Given the description of an element on the screen output the (x, y) to click on. 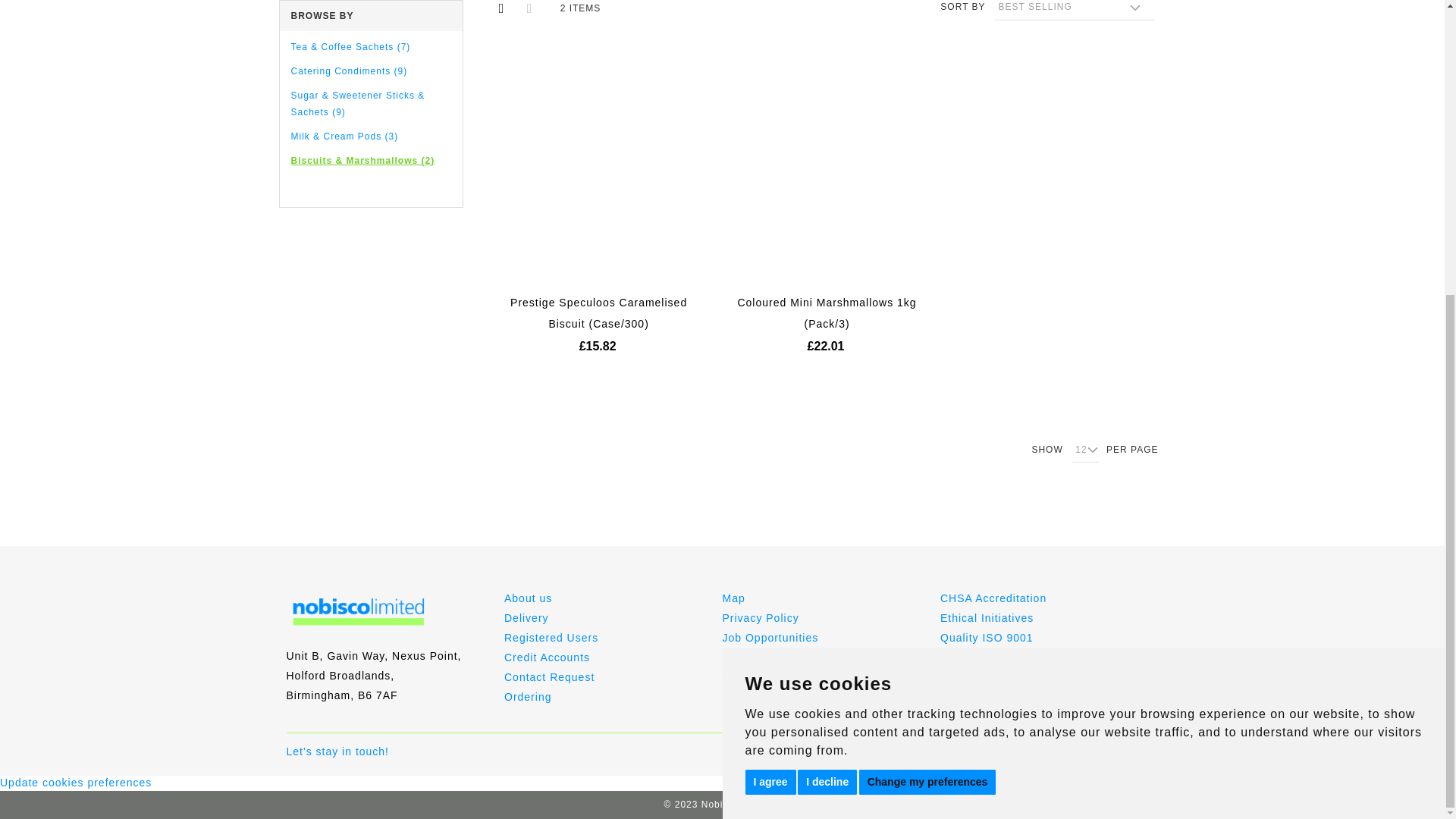
List (528, 10)
Grid (501, 10)
I agree (769, 327)
Change my preferences (927, 327)
Catering Condiments (349, 71)
I decline (827, 327)
